Given the description of an element on the screen output the (x, y) to click on. 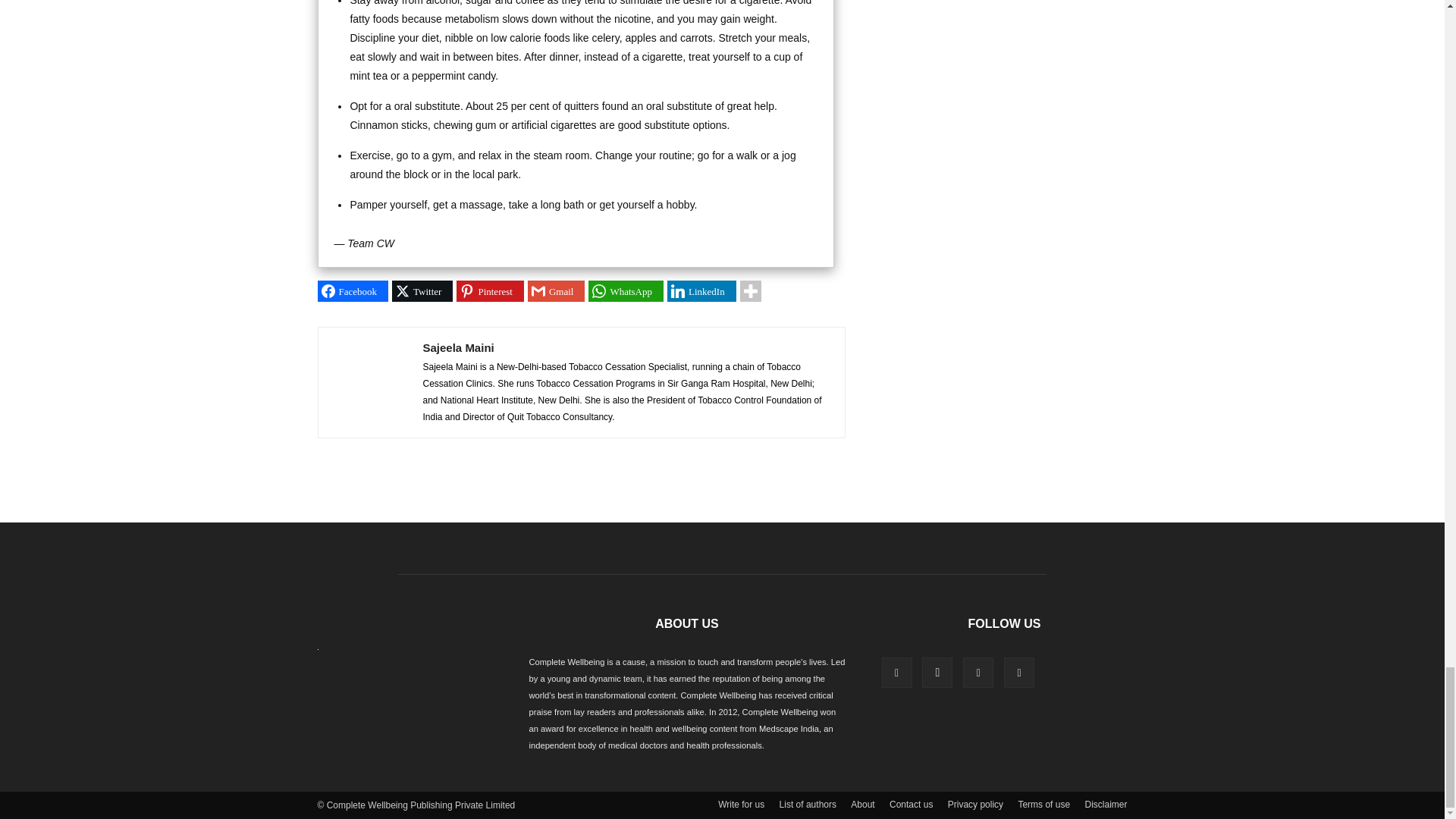
Share on Pinterest (490, 291)
Share on Gmail (556, 291)
Share on Twitter (421, 291)
Share on Facebook (352, 291)
